Given the description of an element on the screen output the (x, y) to click on. 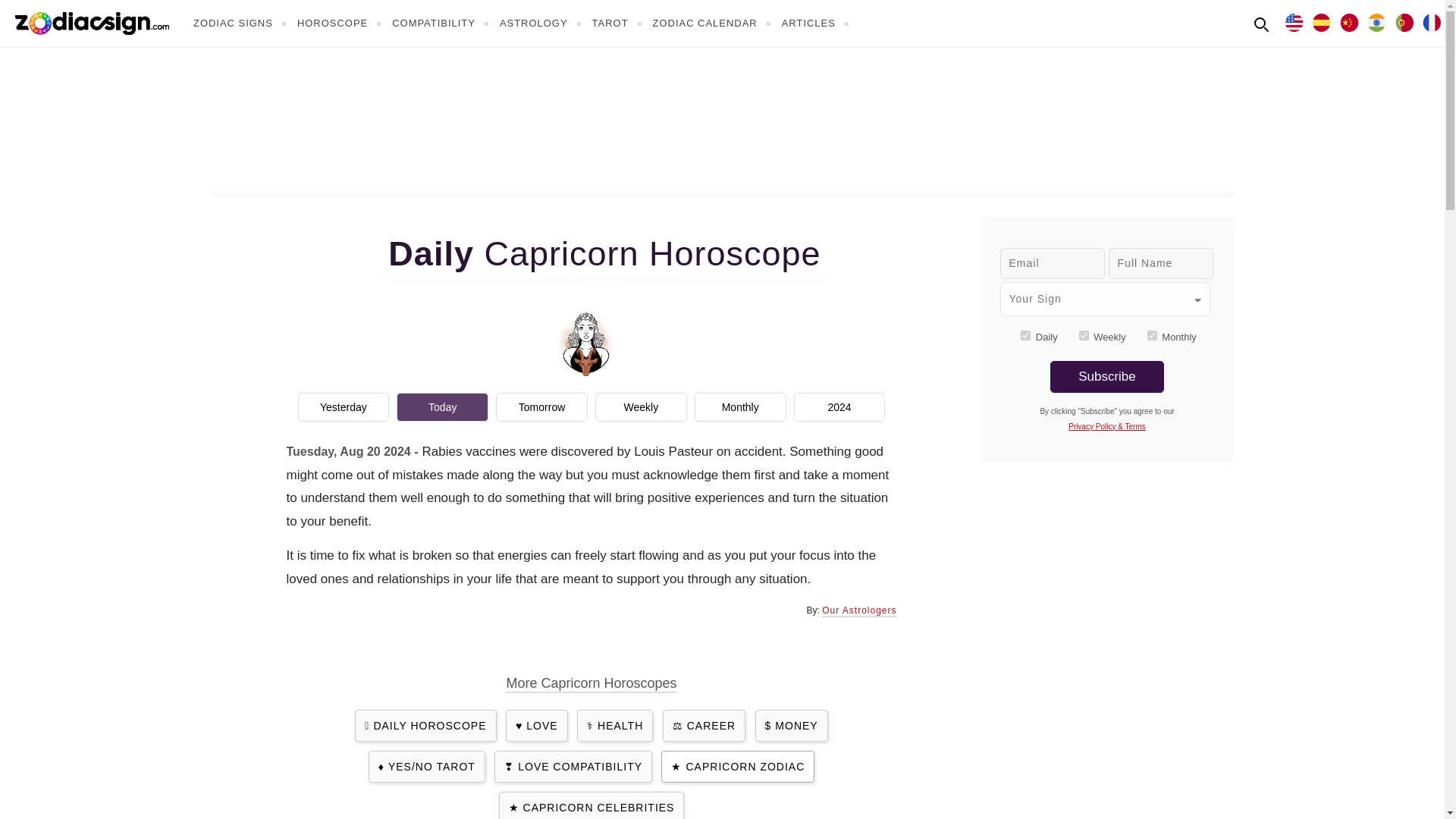
HOROSCOPE (341, 23)
In English (1294, 21)
ZODIAC SIGNS (241, 23)
monthly (1152, 335)
weekly (1083, 335)
daily (1025, 335)
